Given the description of an element on the screen output the (x, y) to click on. 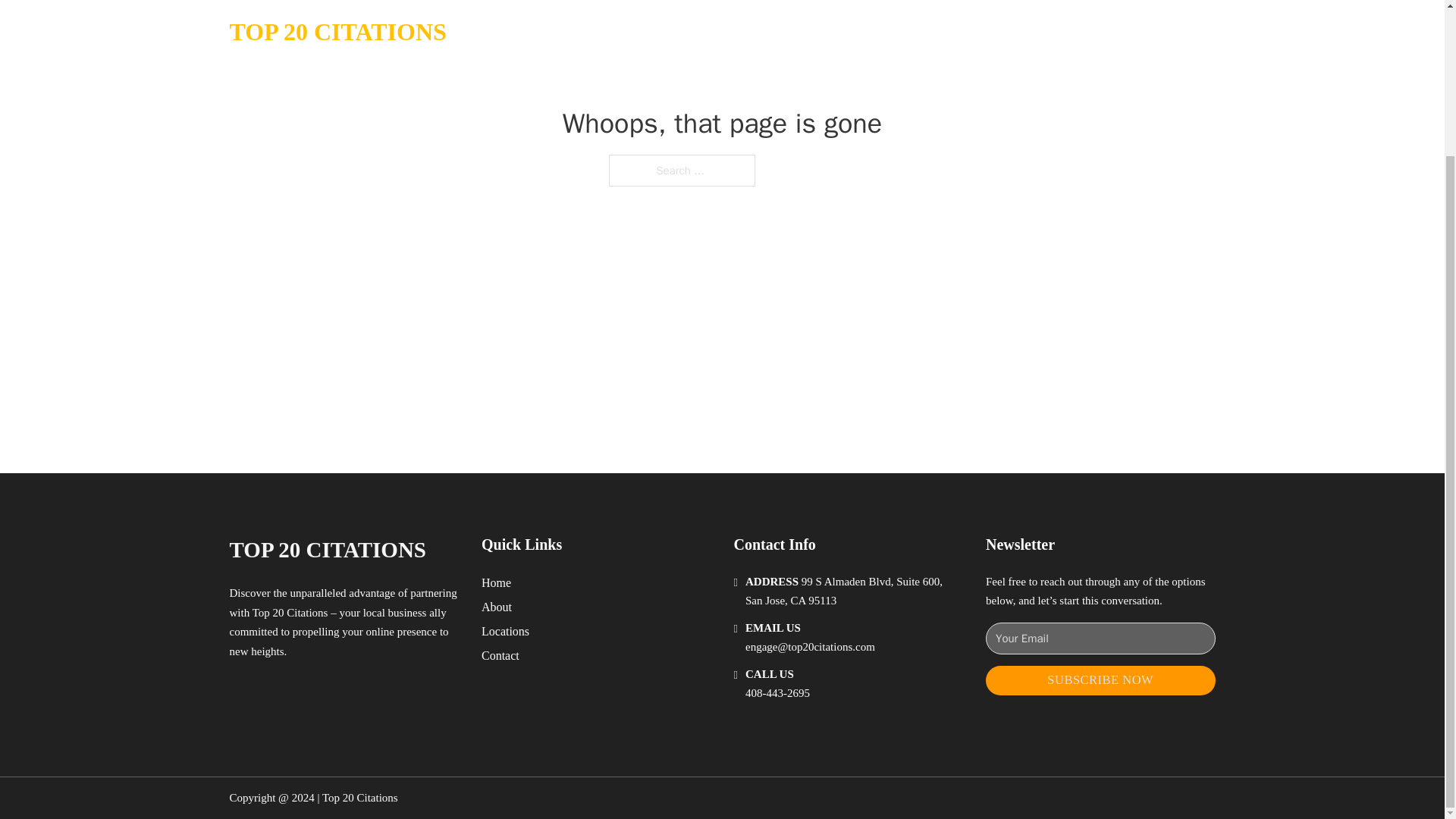
TOP 20 CITATIONS (326, 549)
Home (496, 582)
408-443-2695 (777, 693)
Locations (505, 630)
Contact (500, 655)
SUBSCRIBE NOW (1100, 680)
About (496, 607)
